Given the description of an element on the screen output the (x, y) to click on. 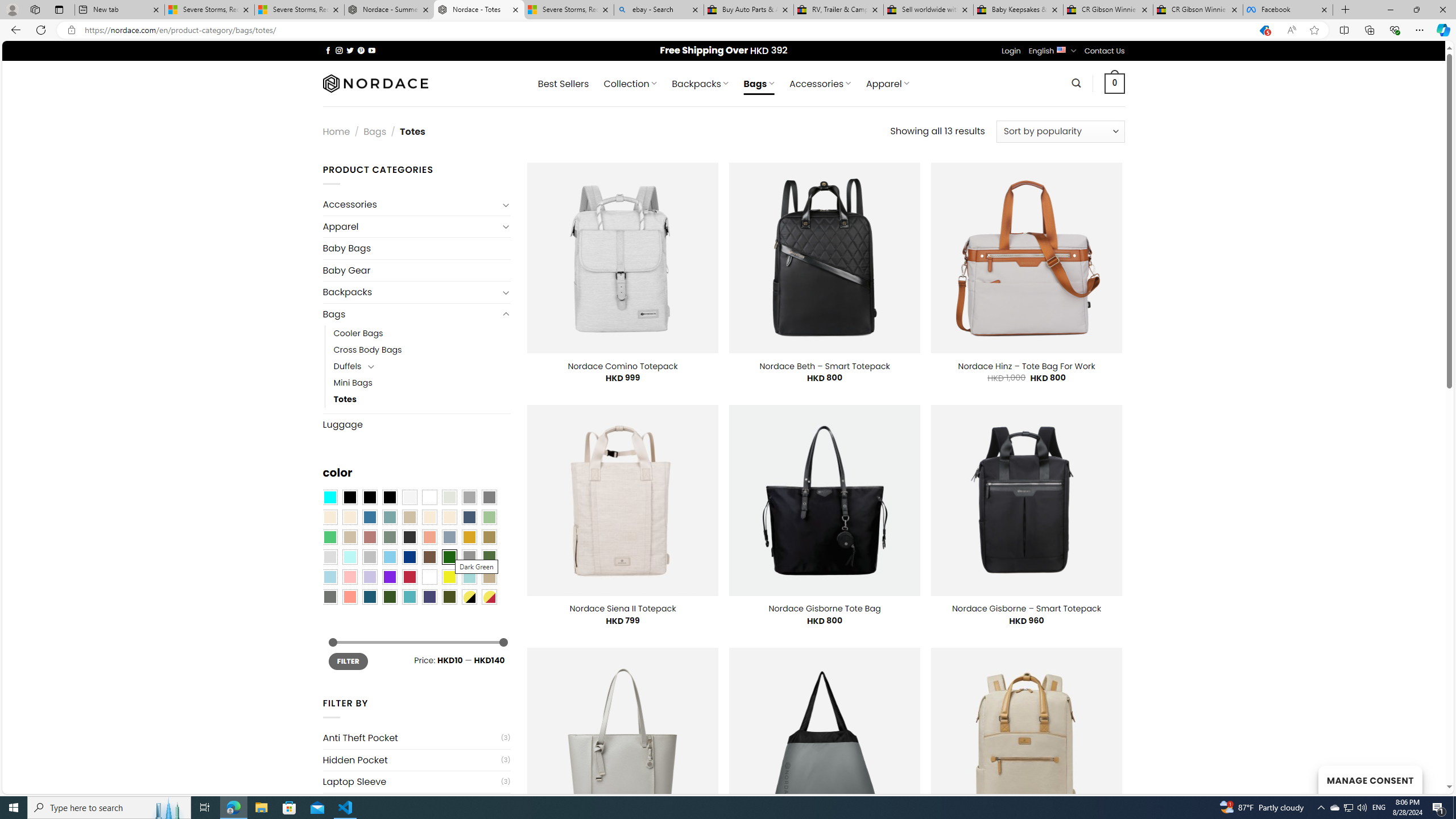
FILTER (347, 661)
Dark Gray (468, 497)
Clear (429, 497)
Cream (449, 517)
Brown (429, 557)
MANAGE CONSENT (1369, 779)
Beige-Brown (349, 517)
